Given the description of an element on the screen output the (x, y) to click on. 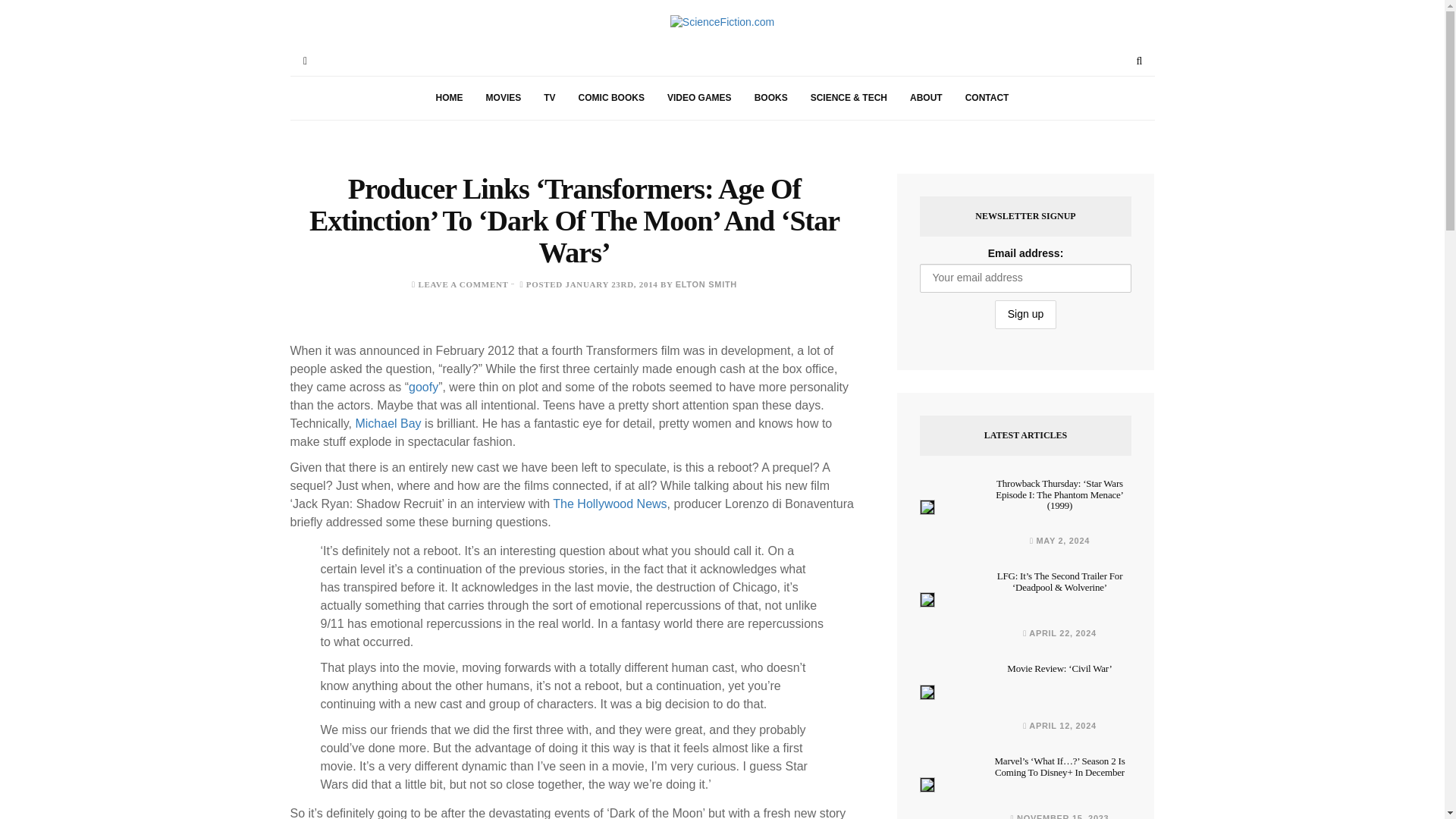
HOME (449, 97)
ABOUT (925, 97)
VIDEO GAMES (699, 97)
BOOKS (770, 97)
COMIC BOOKS (611, 97)
Posts by Elton Smith (705, 284)
goofy (423, 386)
LEAVE A COMMENT (463, 284)
CONTACT (986, 97)
Search (1139, 60)
